Given the description of an element on the screen output the (x, y) to click on. 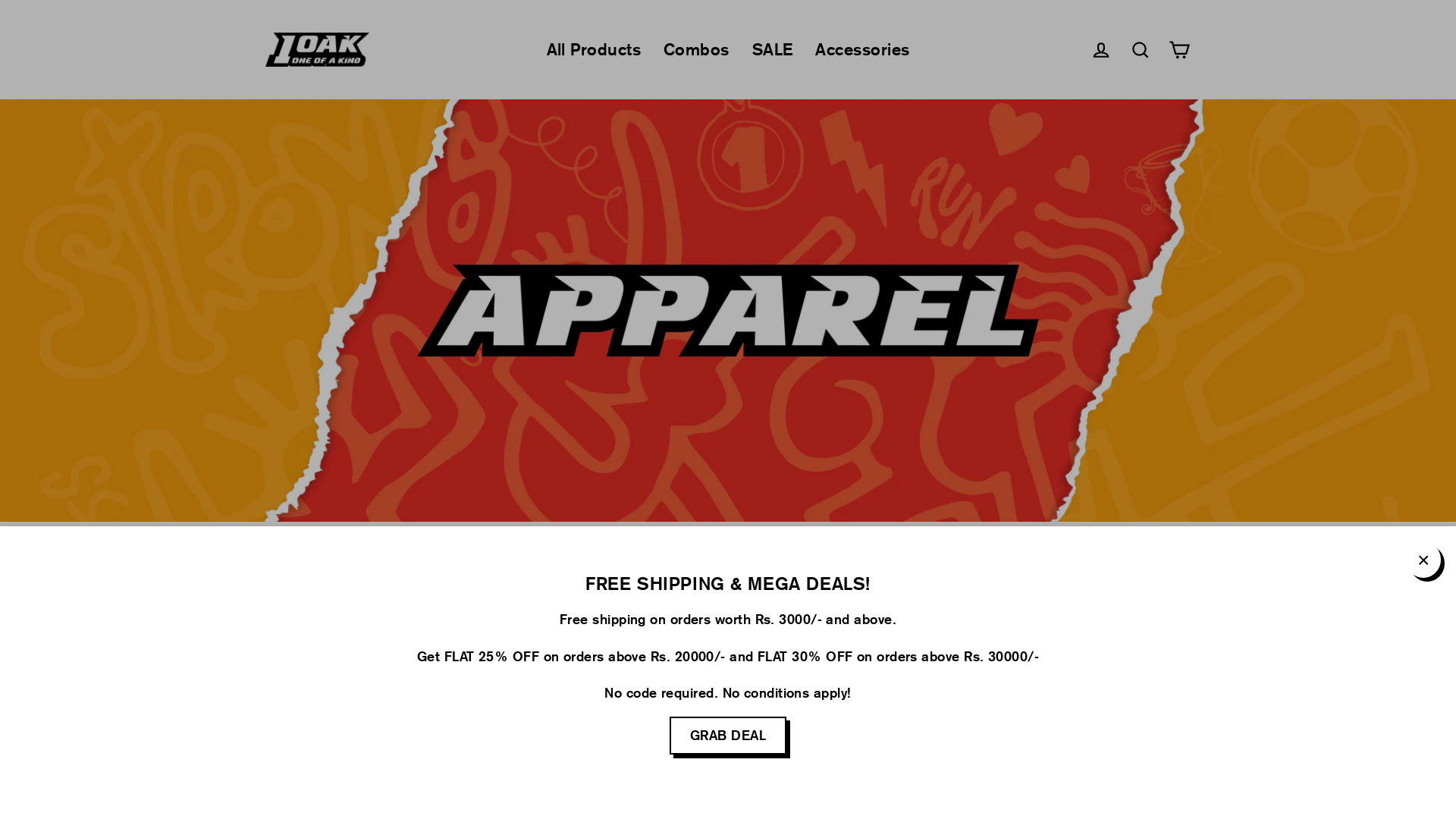
Close (esc) Element type: text (1422, 559)
SALE Element type: text (772, 49)
GRAB DEAL Element type: text (727, 735)
Accessories Element type: text (861, 49)
All Products Element type: text (593, 49)
Cart Element type: text (1179, 49)
Log in Element type: text (1100, 49)
Search Element type: text (1140, 49)
Combos Element type: text (696, 49)
Skip to content Element type: text (0, 0)
